Given the description of an element on the screen output the (x, y) to click on. 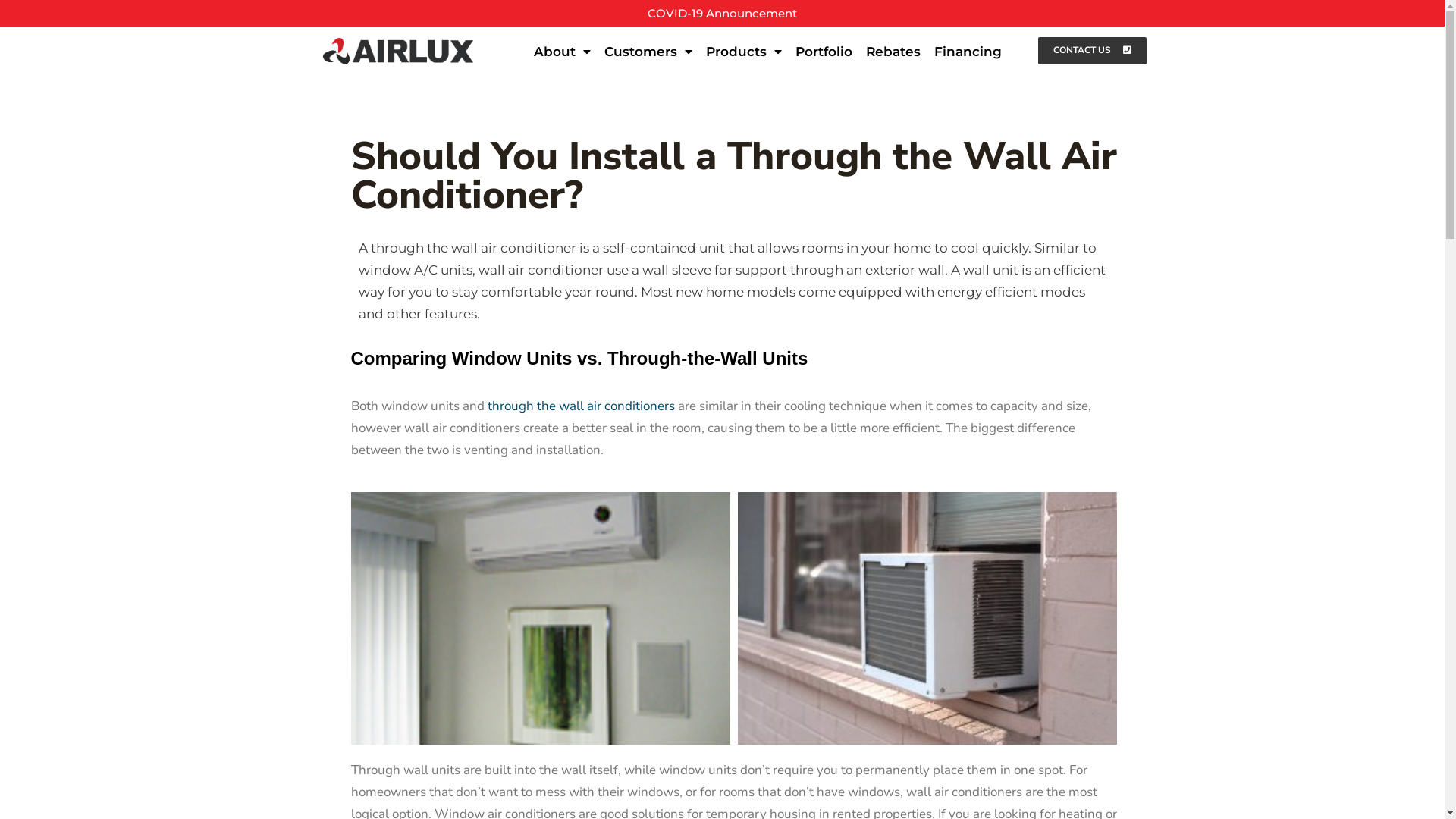
through the wall air conditioners Element type: text (580, 405)
COVID-19 Announcement Element type: text (722, 13)
Customers Element type: text (648, 51)
Products Element type: text (743, 51)
Financing Element type: text (967, 51)
Skip to content Element type: text (15, 31)
Rebates Element type: text (893, 51)
About Element type: text (562, 51)
Portfolio Element type: text (823, 51)
CONTACT US Element type: text (1092, 50)
